Given the description of an element on the screen output the (x, y) to click on. 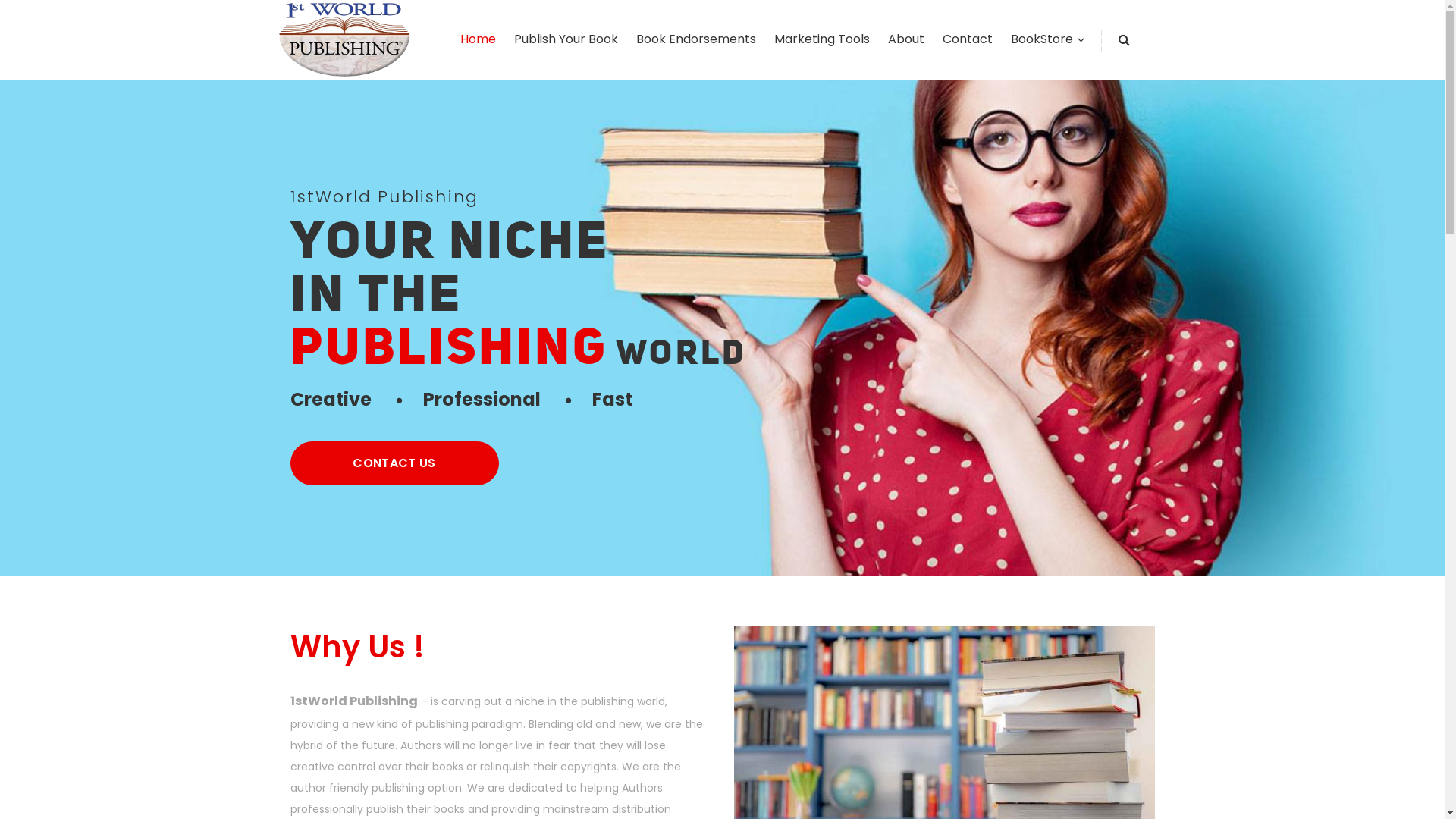
Book Endorsements Element type: text (695, 39)
Contact Element type: text (966, 39)
About Element type: text (905, 39)
BookStore Element type: text (1041, 39)
Publish Your Book Element type: text (566, 39)
1st World Publishing Element type: hover (344, 38)
CONTACT US Element type: text (393, 463)
Marketing Tools Element type: text (821, 39)
Home Element type: text (477, 39)
